Given the description of an element on the screen output the (x, y) to click on. 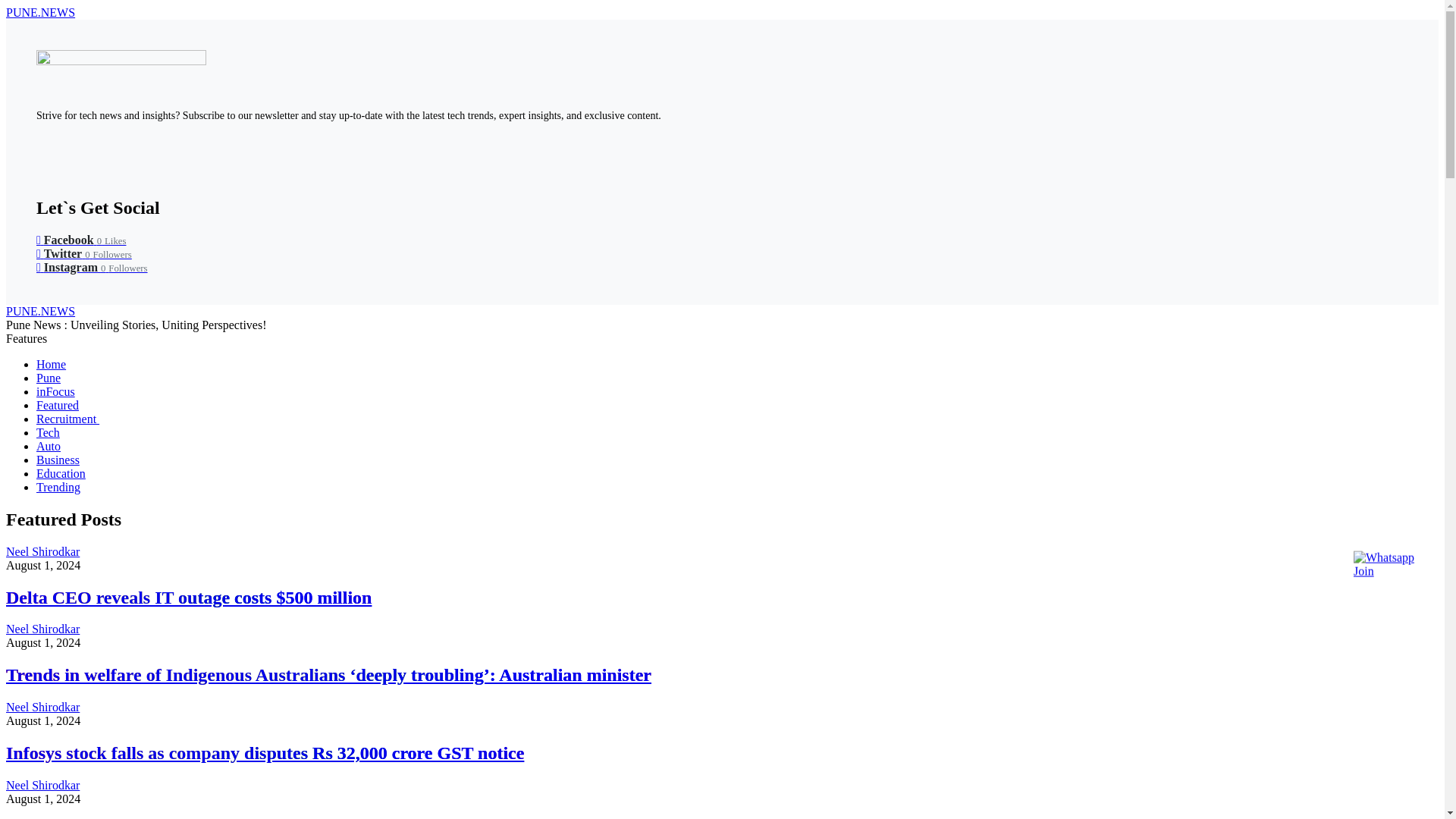
Twitter 0 Followers (84, 253)
Instagram 0 Followers (92, 267)
Facebook 0 Likes (80, 239)
Trending (58, 486)
Neel Shirodkar (42, 628)
PUNE.NEWS (40, 310)
View all posts by Neel Shirodkar (42, 784)
PUNE.NEWS (40, 11)
Neel Shirodkar (42, 551)
Home (50, 364)
inFocus (55, 391)
Business (58, 459)
Neel Shirodkar (42, 707)
View all posts by Neel Shirodkar (42, 707)
